Given the description of an element on the screen output the (x, y) to click on. 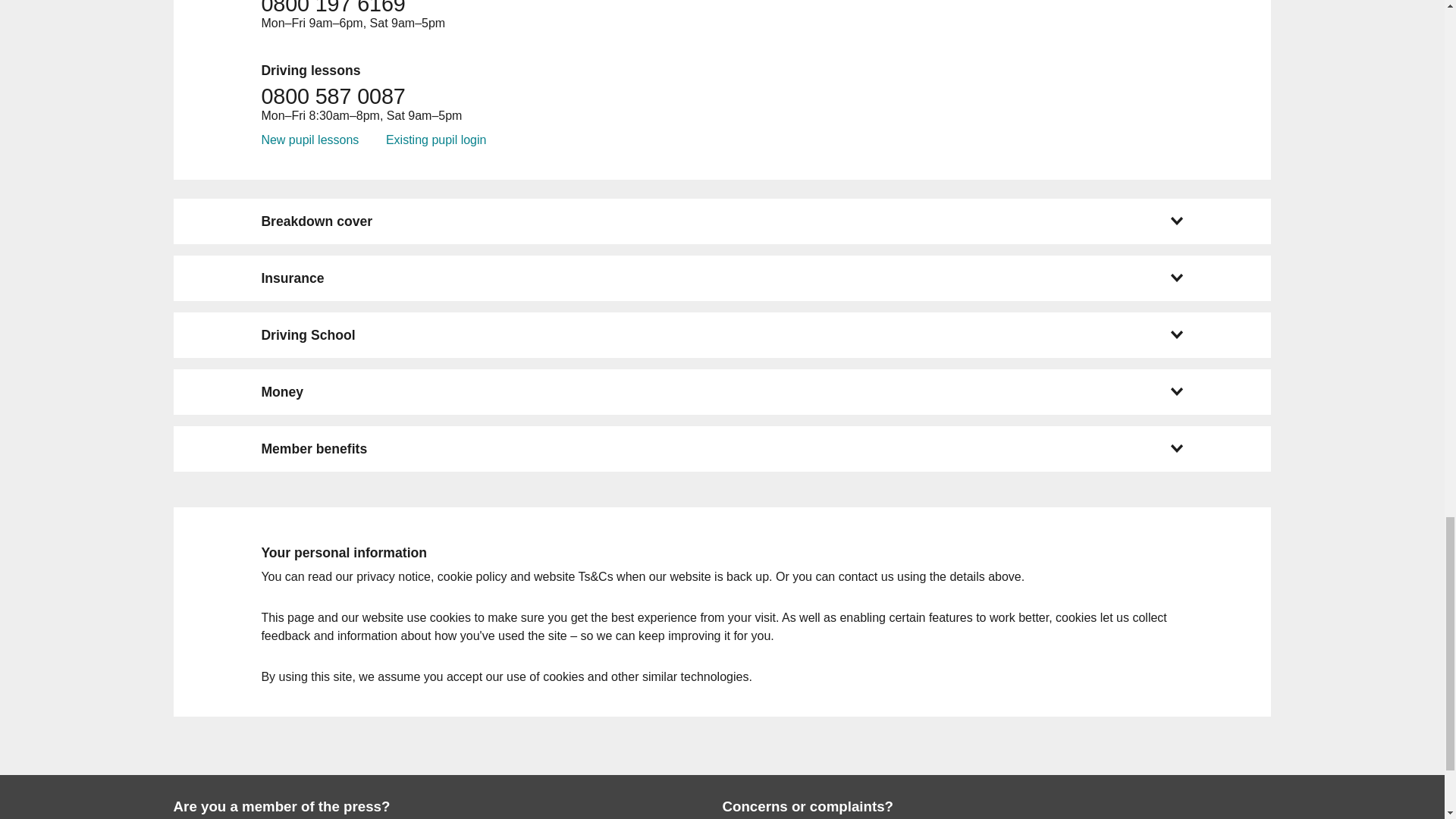
New pupil lessons (309, 140)
Existing pupil login (435, 140)
